Given the description of an element on the screen output the (x, y) to click on. 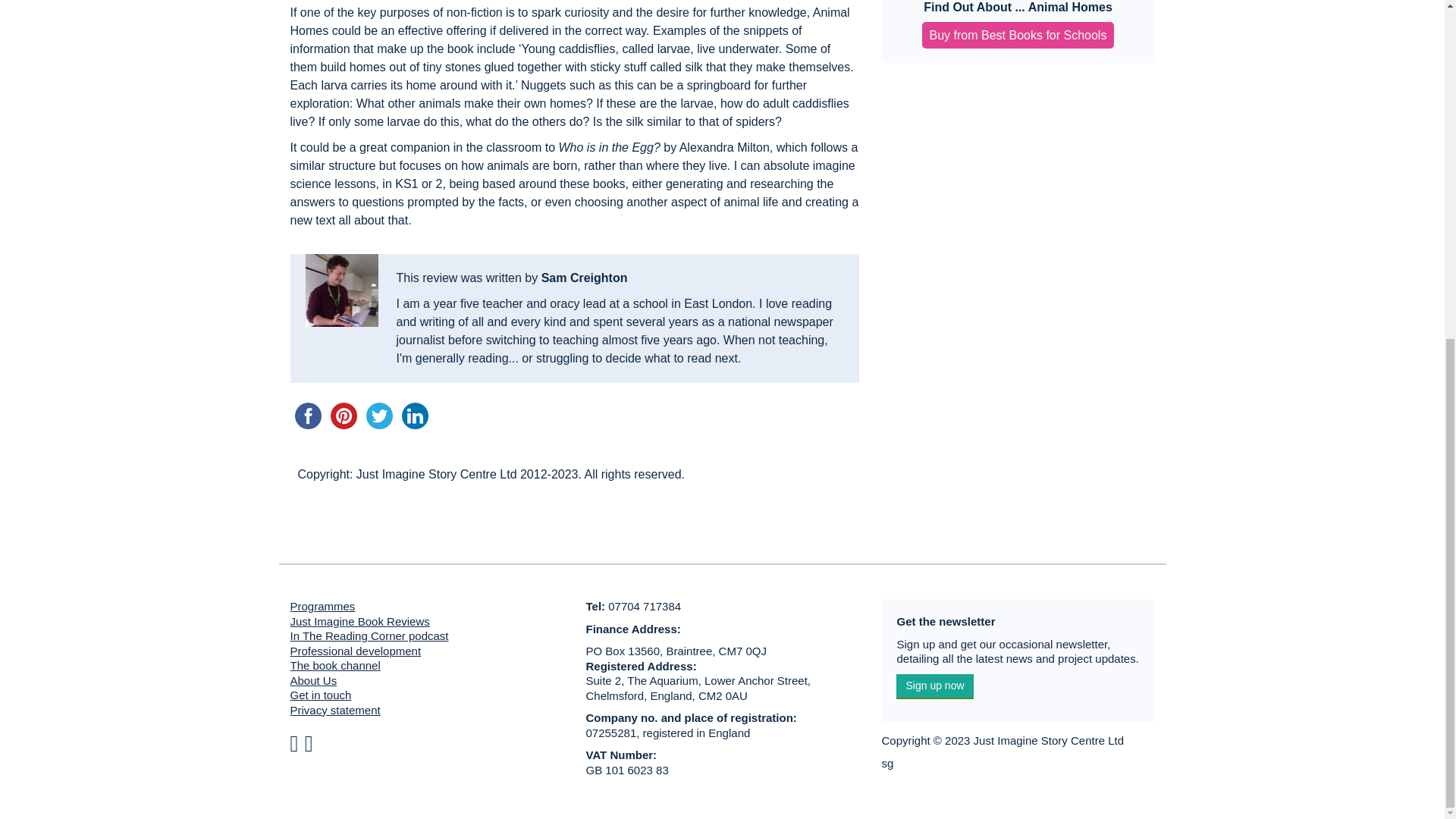
About Us (312, 679)
twitter (378, 416)
pinterest (343, 416)
Professional development (354, 650)
Get in touch (319, 694)
In The Reading Corner podcast (368, 635)
Just Imagine Book Reviews (359, 620)
linkedin (414, 416)
Sign up now (934, 686)
facebook (306, 416)
Privacy statement (334, 709)
Buy from Best Books for Schools (1018, 35)
The book channel (334, 665)
Programmes (322, 605)
